Given the description of an element on the screen output the (x, y) to click on. 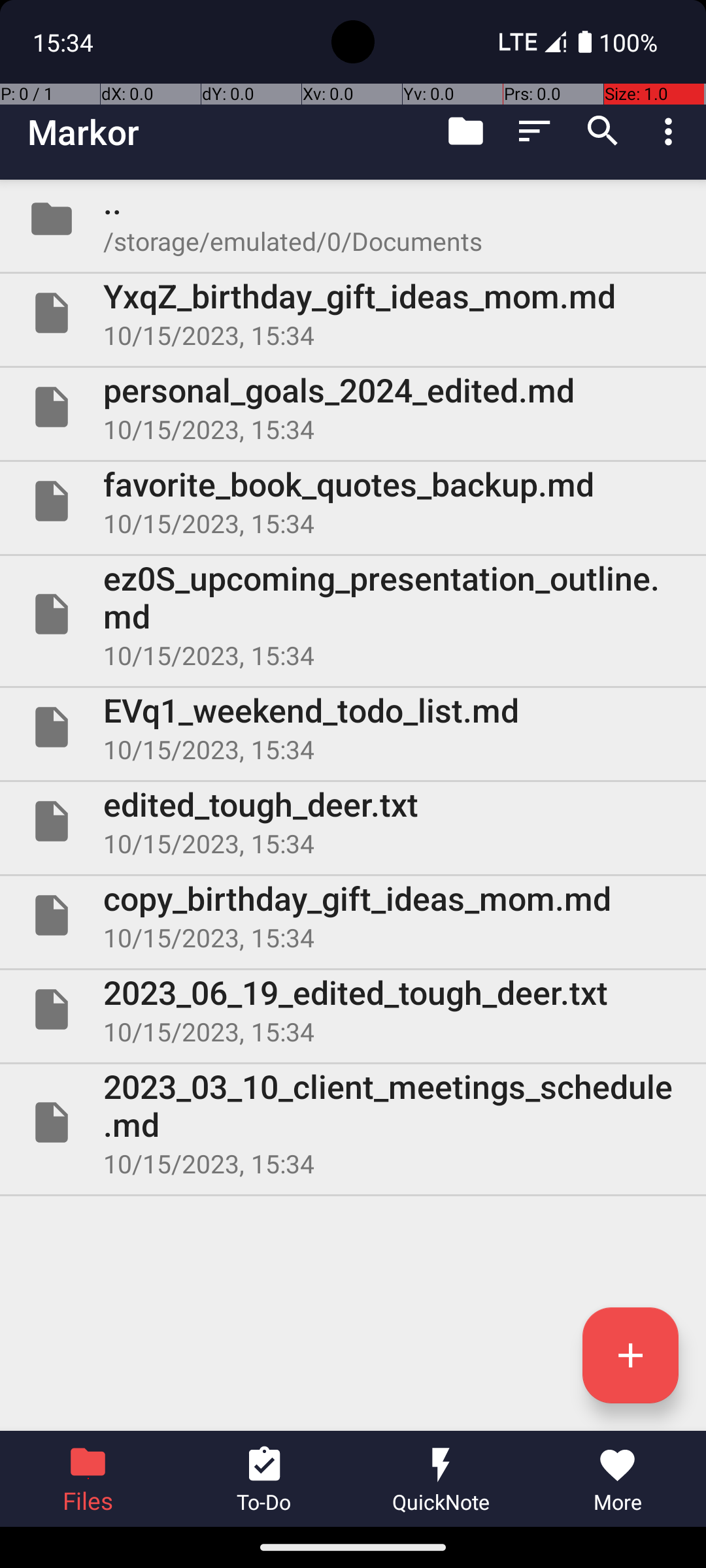
File YxqZ_birthday_gift_ideas_mom.md  Element type: android.widget.LinearLayout (353, 312)
File personal_goals_2024_edited.md  Element type: android.widget.LinearLayout (353, 406)
File favorite_book_quotes_backup.md  Element type: android.widget.LinearLayout (353, 500)
File ez0S_upcoming_presentation_outline.md  Element type: android.widget.LinearLayout (353, 613)
File EVq1_weekend_todo_list.md  Element type: android.widget.LinearLayout (353, 726)
File edited_tough_deer.txt  Element type: android.widget.LinearLayout (353, 821)
File copy_birthday_gift_ideas_mom.md  Element type: android.widget.LinearLayout (353, 915)
File 2023_06_19_edited_tough_deer.txt  Element type: android.widget.LinearLayout (353, 1009)
File 2023_03_10_client_meetings_schedule.md  Element type: android.widget.LinearLayout (353, 1122)
